Given the description of an element on the screen output the (x, y) to click on. 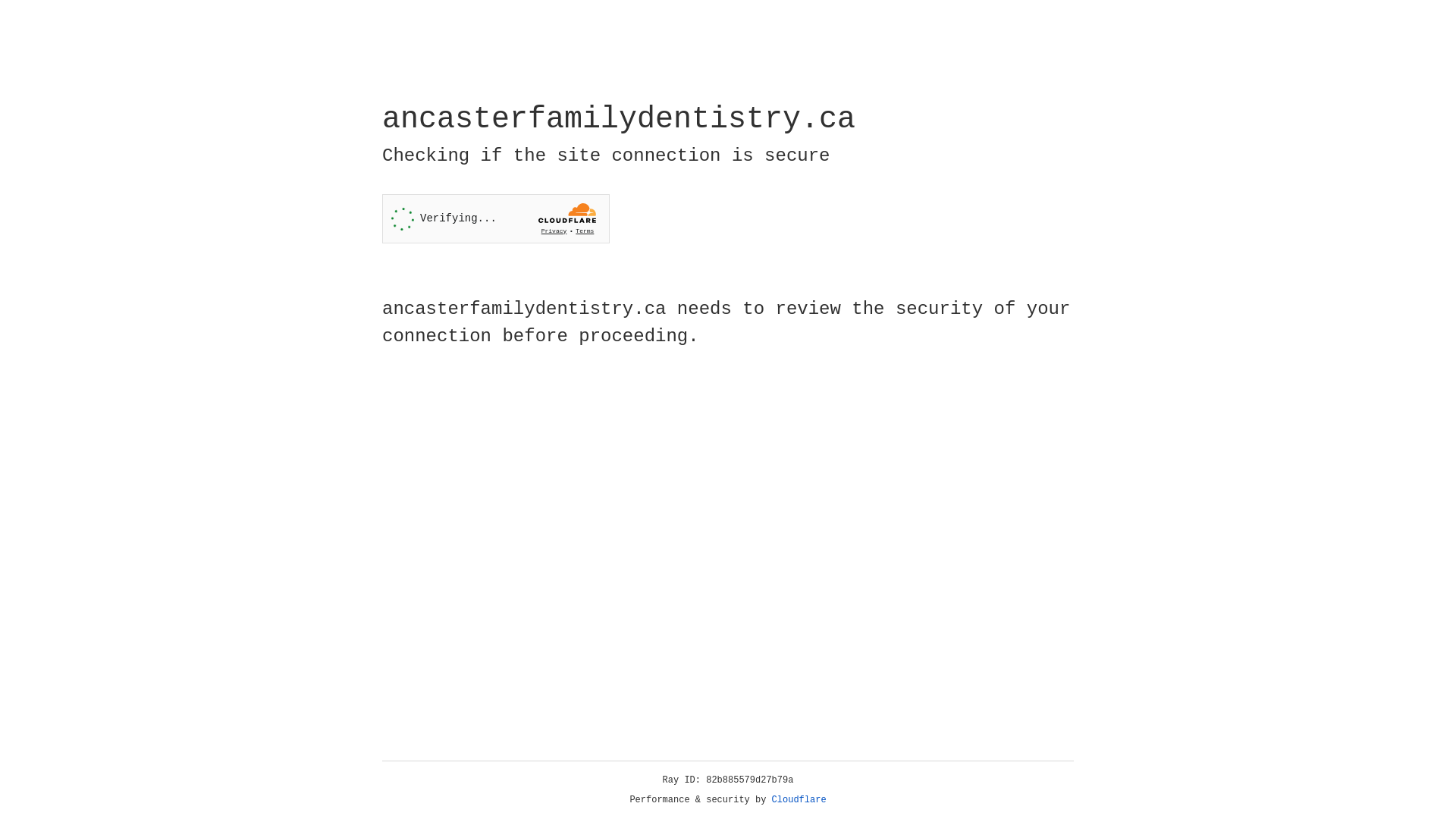
Widget containing a Cloudflare security challenge Element type: hover (495, 218)
Cloudflare Element type: text (798, 799)
